Given the description of an element on the screen output the (x, y) to click on. 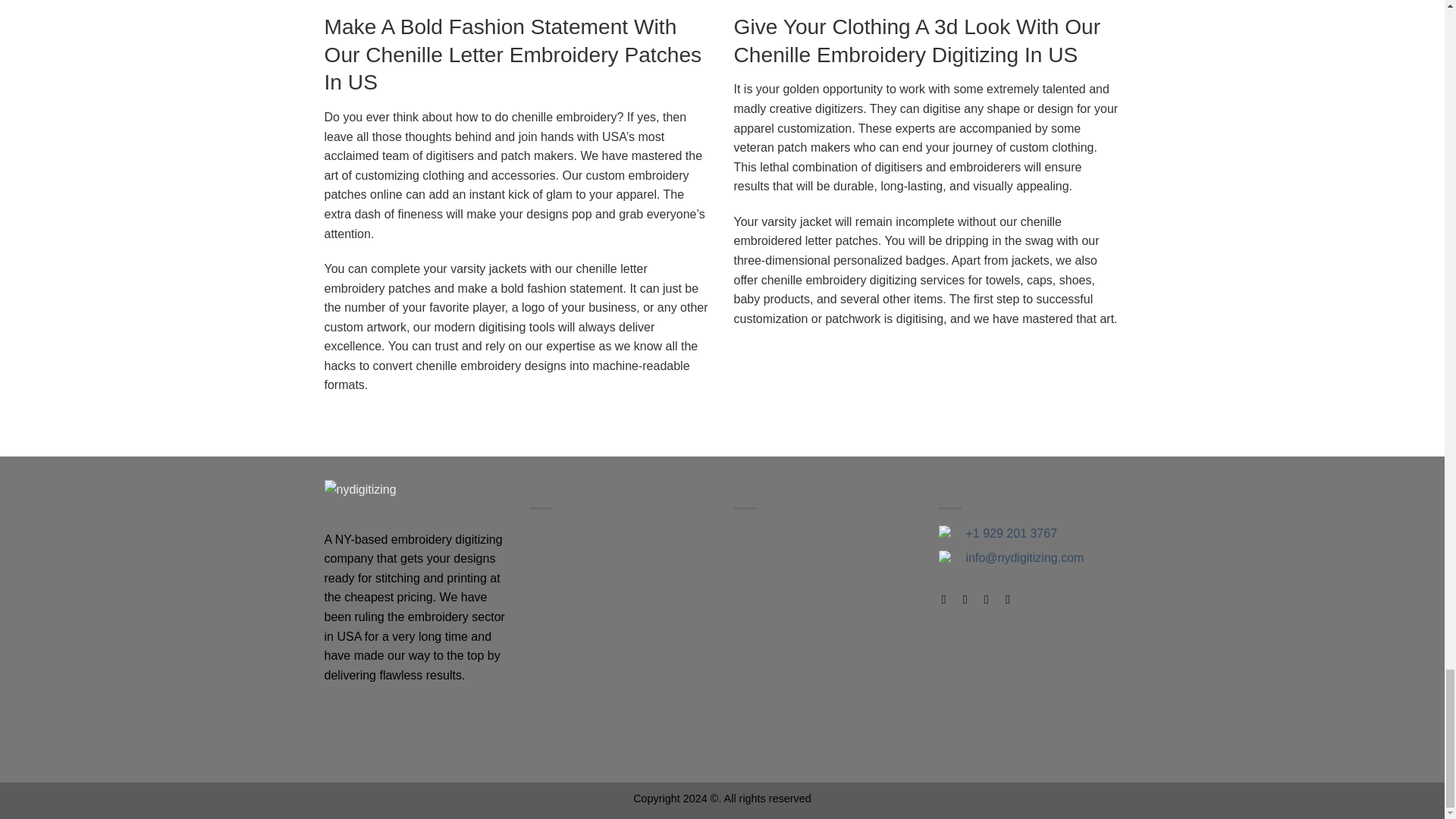
Vector Artwork Conversion (805, 718)
Contact Us (559, 688)
Cap Digitizing (771, 567)
Logo Digitizing (773, 536)
Portfolio (551, 597)
Get Free Quote (570, 718)
Chenille Digitizing (781, 627)
Faqs (542, 627)
About Us (554, 567)
Jacket Back Digitizing (792, 688)
